Given the description of an element on the screen output the (x, y) to click on. 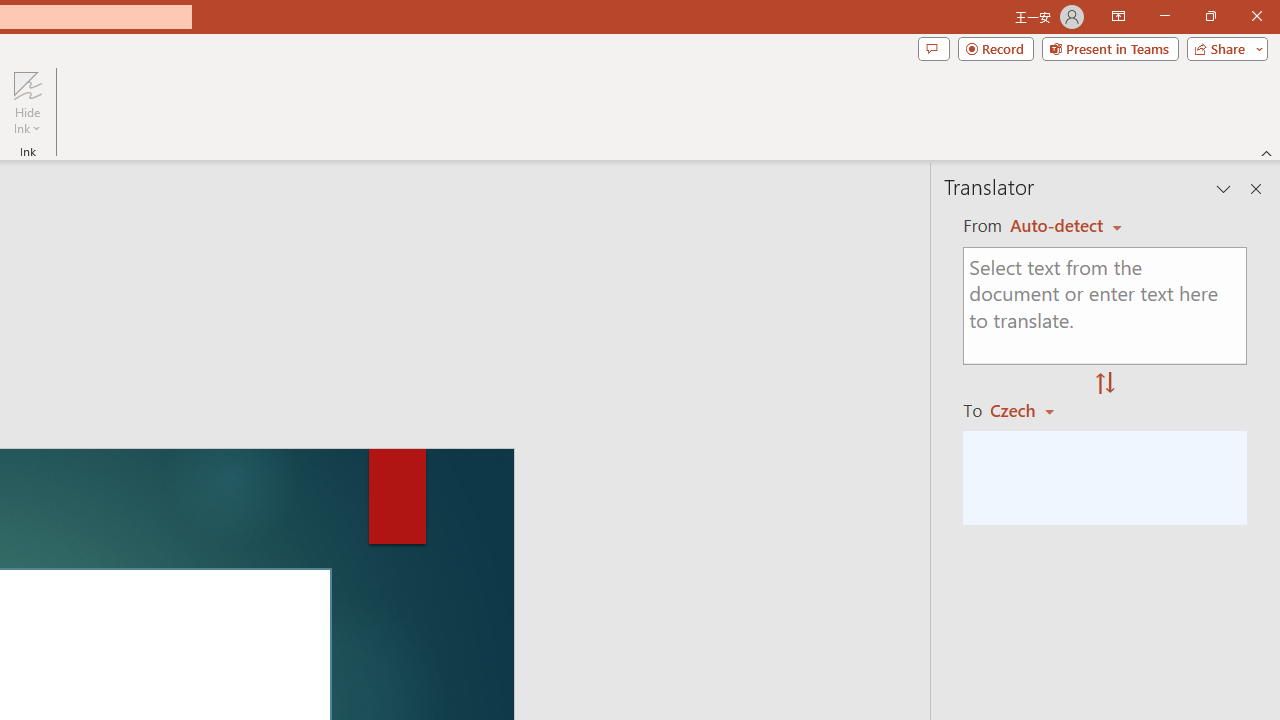
Czech (1030, 409)
English (1066, 225)
Swap "from" and "to" languages. (1105, 383)
